Given the description of an element on the screen output the (x, y) to click on. 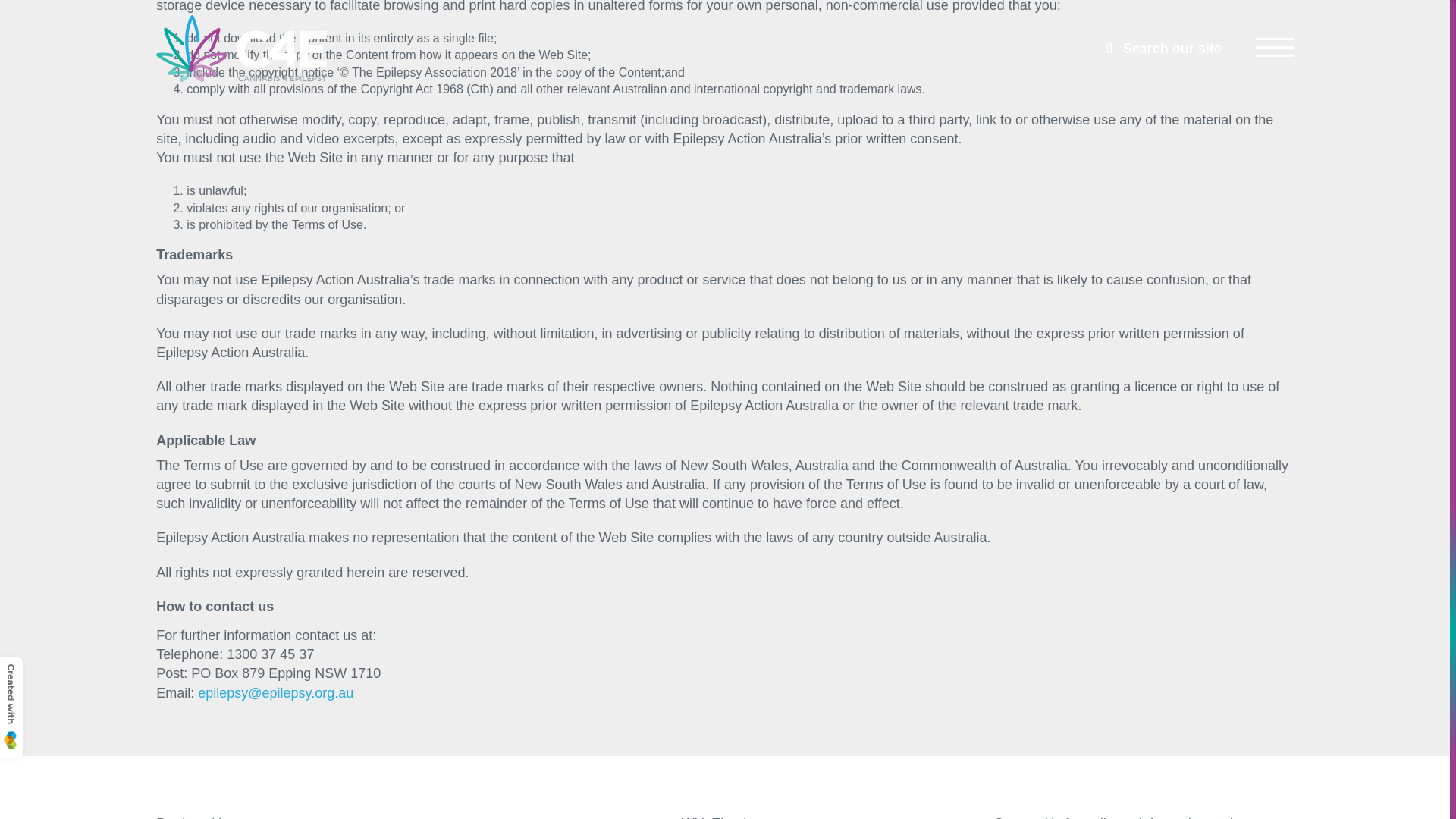
Contact Us (1027, 817)
